Given the description of an element on the screen output the (x, y) to click on. 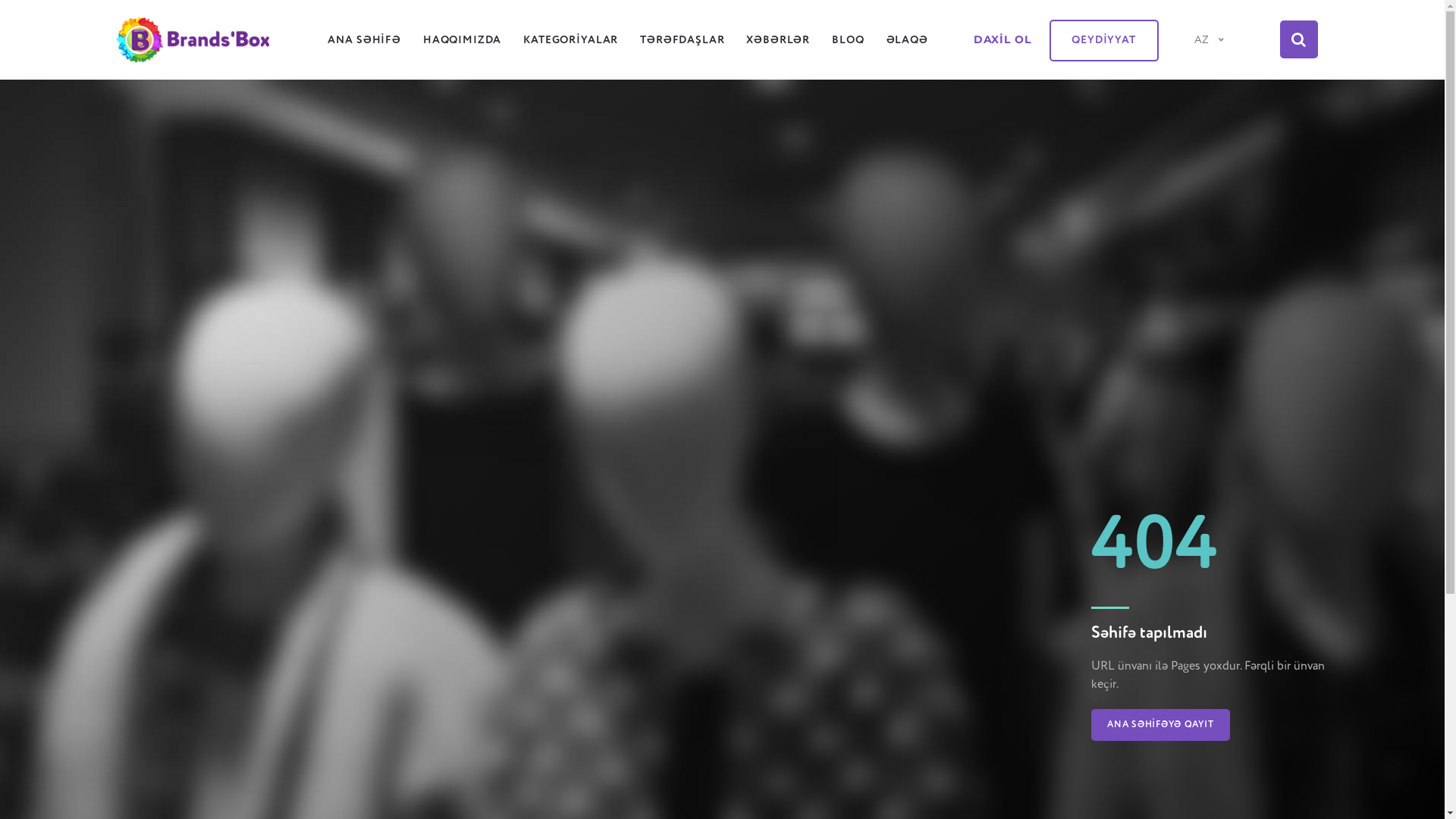
BLOQ Element type: text (847, 44)
HAQQIMIZDA Element type: text (462, 44)
DAXIL OL Element type: text (1002, 42)
QEYDIYYAT Element type: text (1103, 40)
KATEGORIYALAR Element type: text (570, 44)
